Given the description of an element on the screen output the (x, y) to click on. 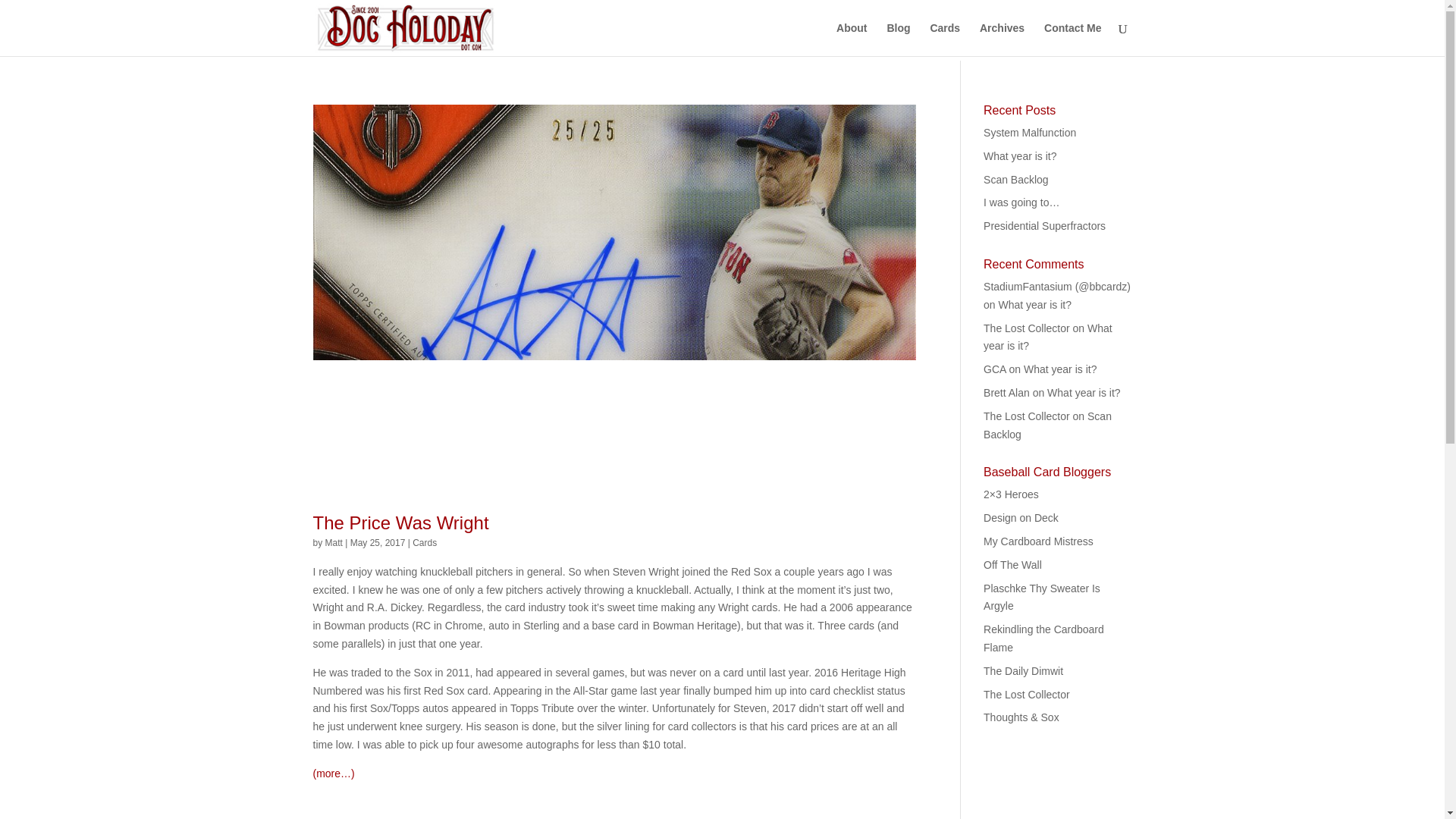
Cards (944, 39)
Off The Wall (1013, 564)
What year is it? (1048, 337)
Design on Deck (1021, 517)
Contact Me (1071, 39)
Presidential Superfractors (1044, 225)
System Malfunction (1029, 132)
GCA (995, 369)
The Price Was Wright (400, 522)
My Cardboard Mistress (1038, 541)
Posts by Matt (333, 542)
Archives (1002, 39)
Cards (424, 542)
Matt (333, 542)
About (850, 39)
